Given the description of an element on the screen output the (x, y) to click on. 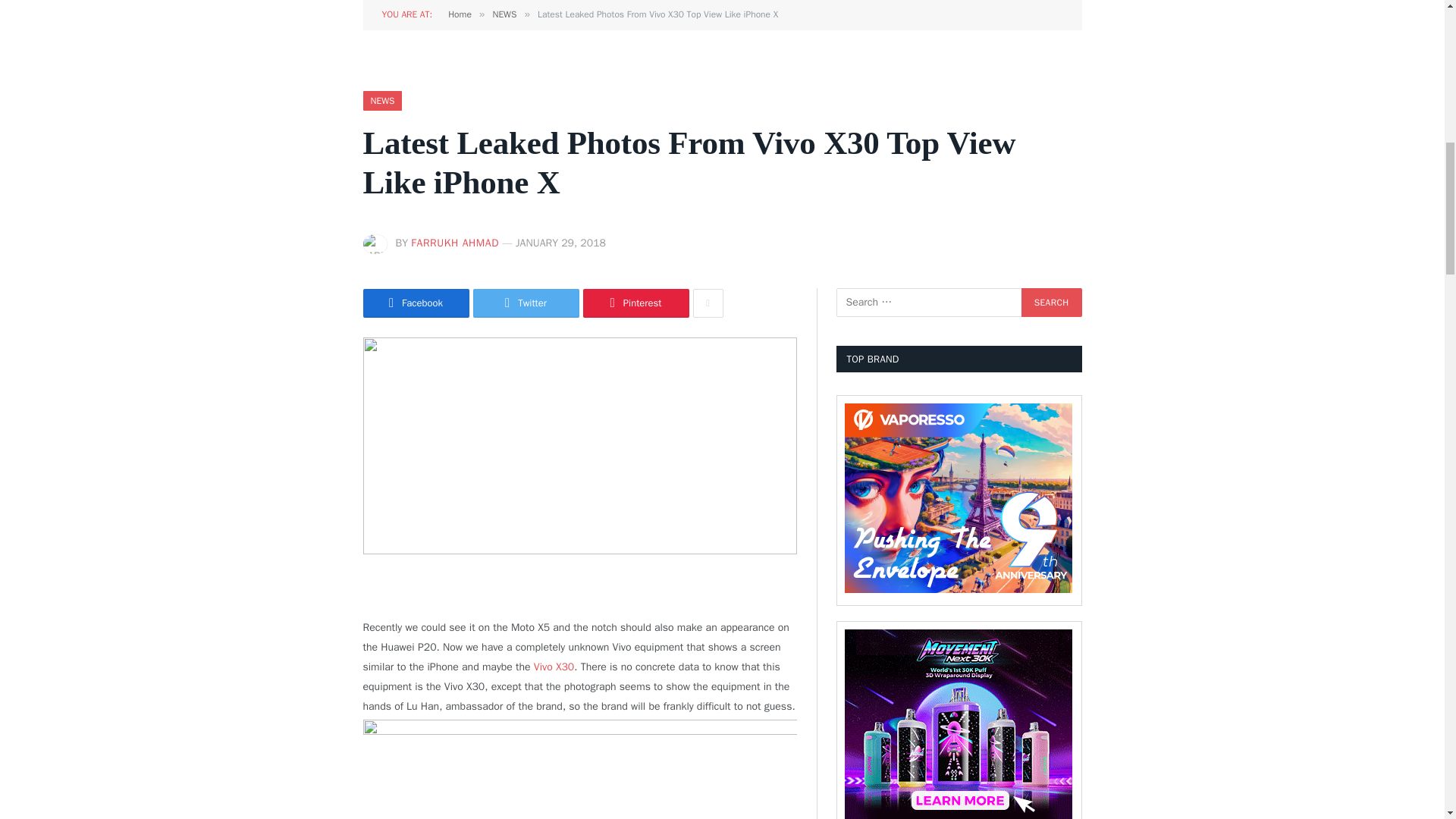
Show More Social Sharing (708, 303)
Share on Facebook (415, 303)
Share on Twitter (526, 303)
Share on Pinterest (635, 303)
Latest Leaked Photos From Vivo X30 Top View Like iPhone X (579, 445)
Search (1051, 302)
Posts by Farrukh Ahmad (454, 242)
Search (1051, 302)
